Given the description of an element on the screen output the (x, y) to click on. 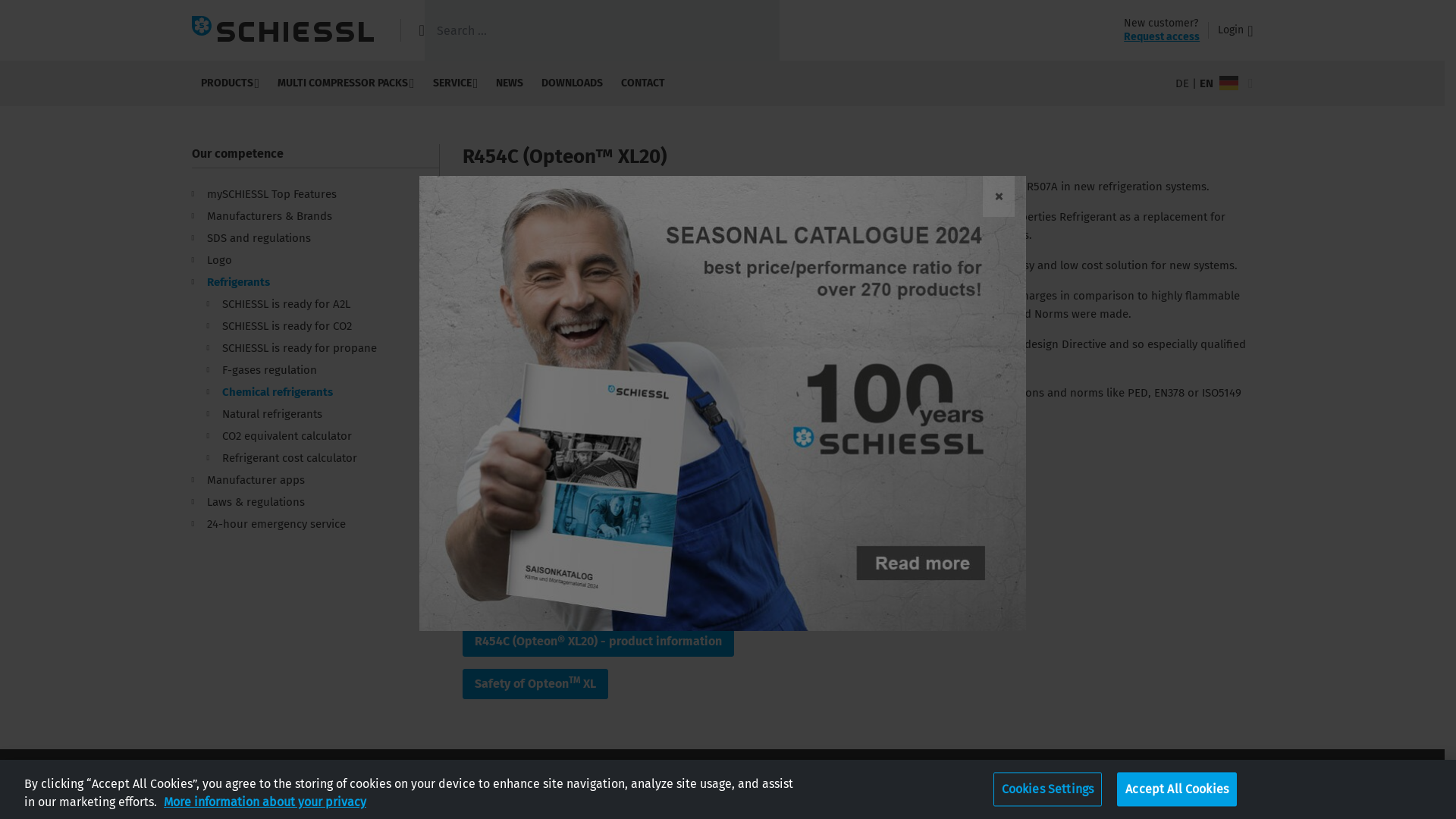
Login (1234, 30)
PRODUCTS (228, 83)
Request access (1161, 36)
